Given the description of an element on the screen output the (x, y) to click on. 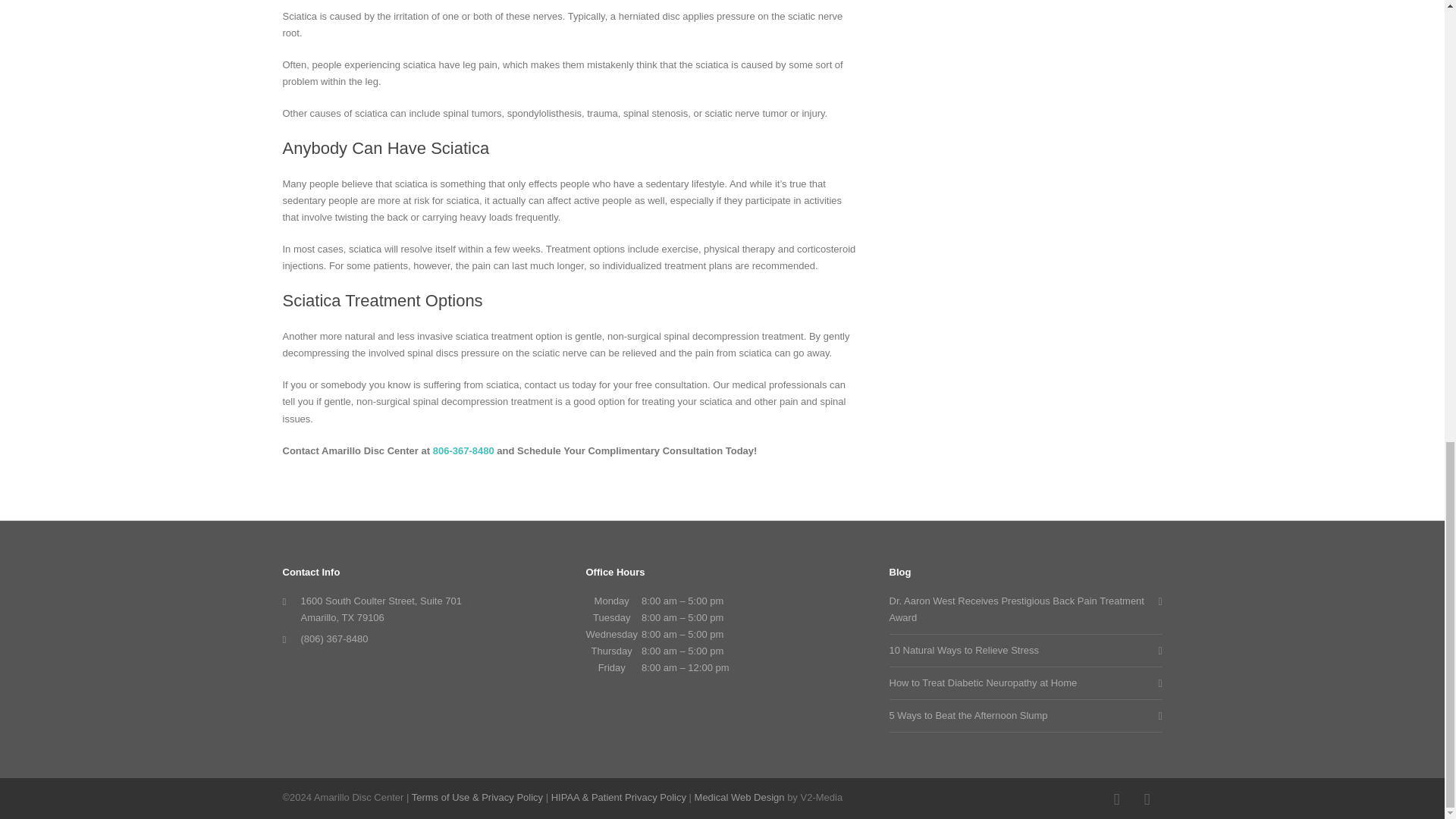
Twitter (1146, 798)
Facebook (1115, 798)
